Given the description of an element on the screen output the (x, y) to click on. 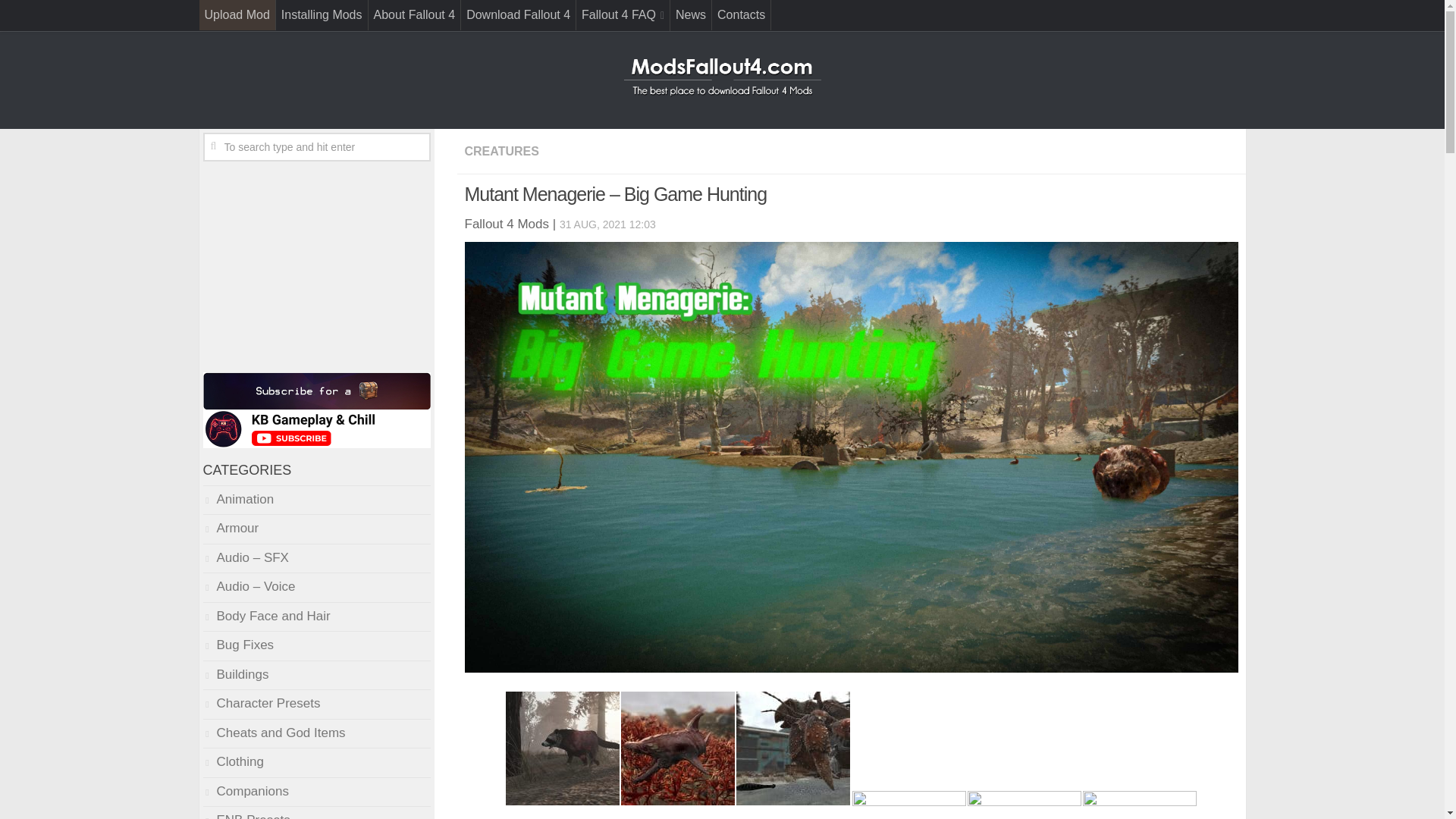
About Fallout 4 (414, 15)
To search type and hit enter (316, 146)
Fallout 4 Mods (506, 223)
Upload Mod (236, 15)
Animation (239, 498)
Fallout 4 FAQ (622, 15)
Download Fallout 4 (518, 15)
Installing Mods (322, 15)
CREATURES (501, 151)
Fallout 4 Mods (722, 77)
